Given the description of an element on the screen output the (x, y) to click on. 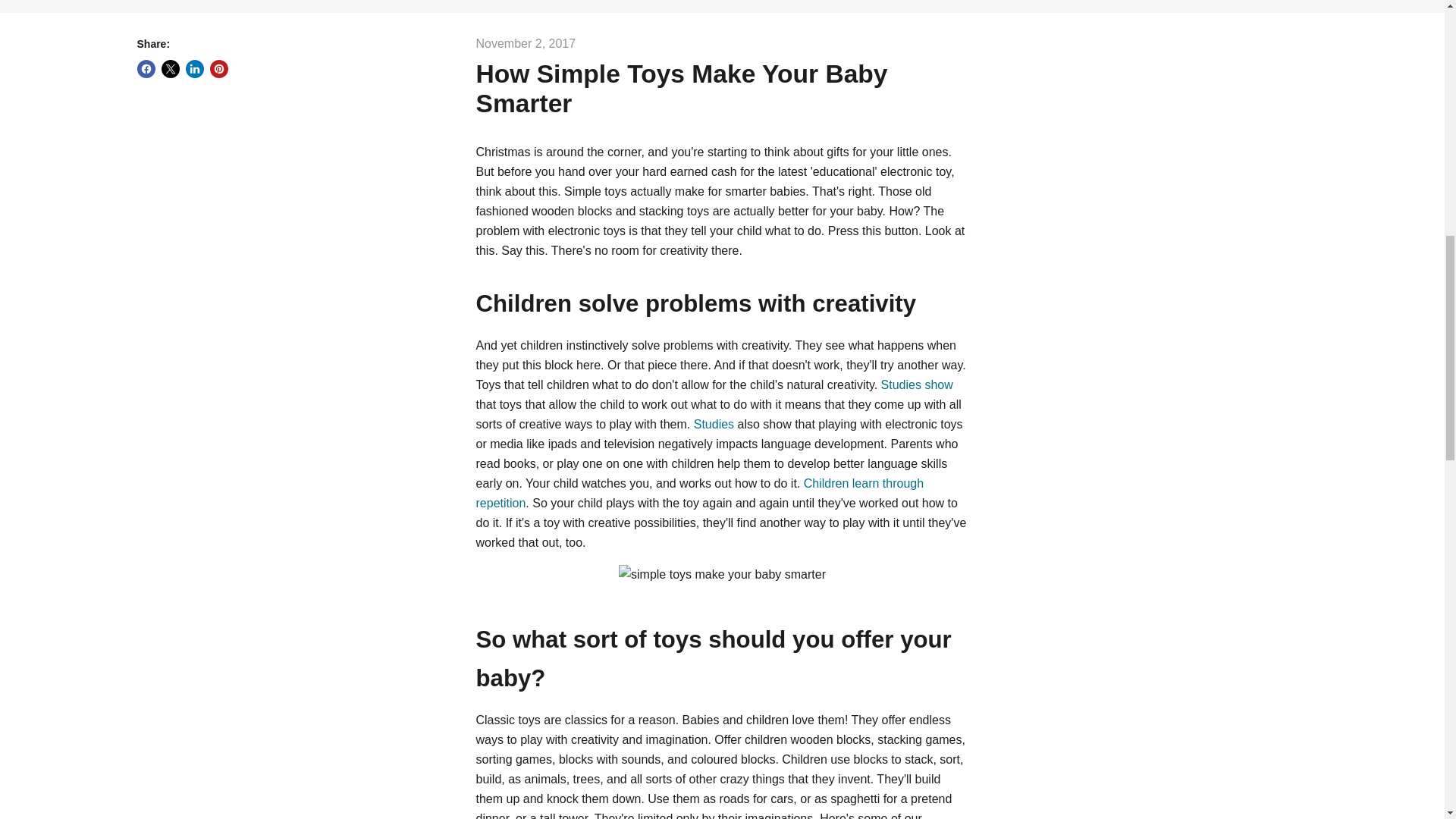
Children learn through repetition (700, 492)
